Given the description of an element on the screen output the (x, y) to click on. 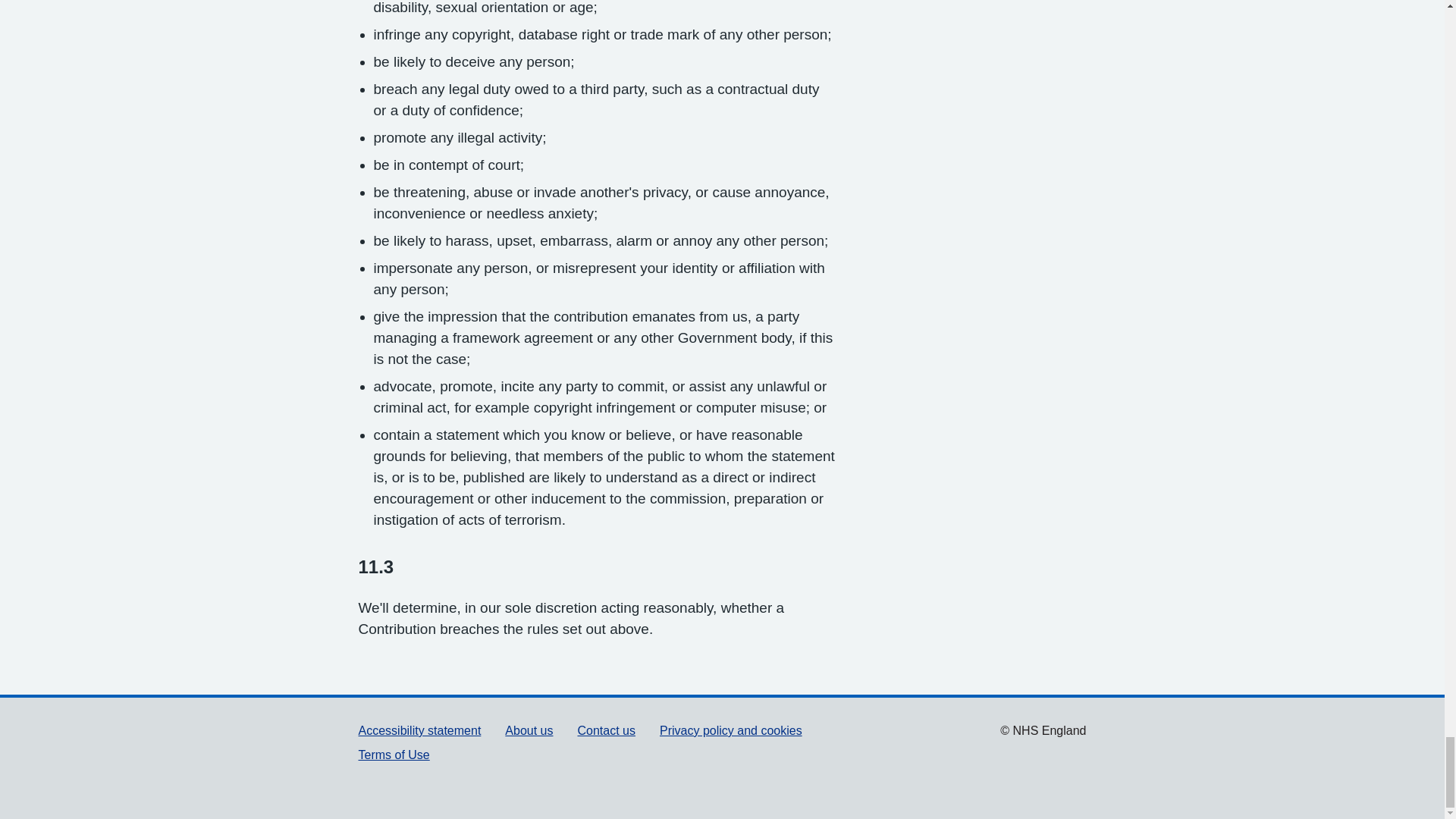
Privacy policy and cookies (730, 730)
About us (529, 730)
Accessibility statement (419, 730)
Contact us (606, 730)
Terms of Use (393, 754)
